Given the description of an element on the screen output the (x, y) to click on. 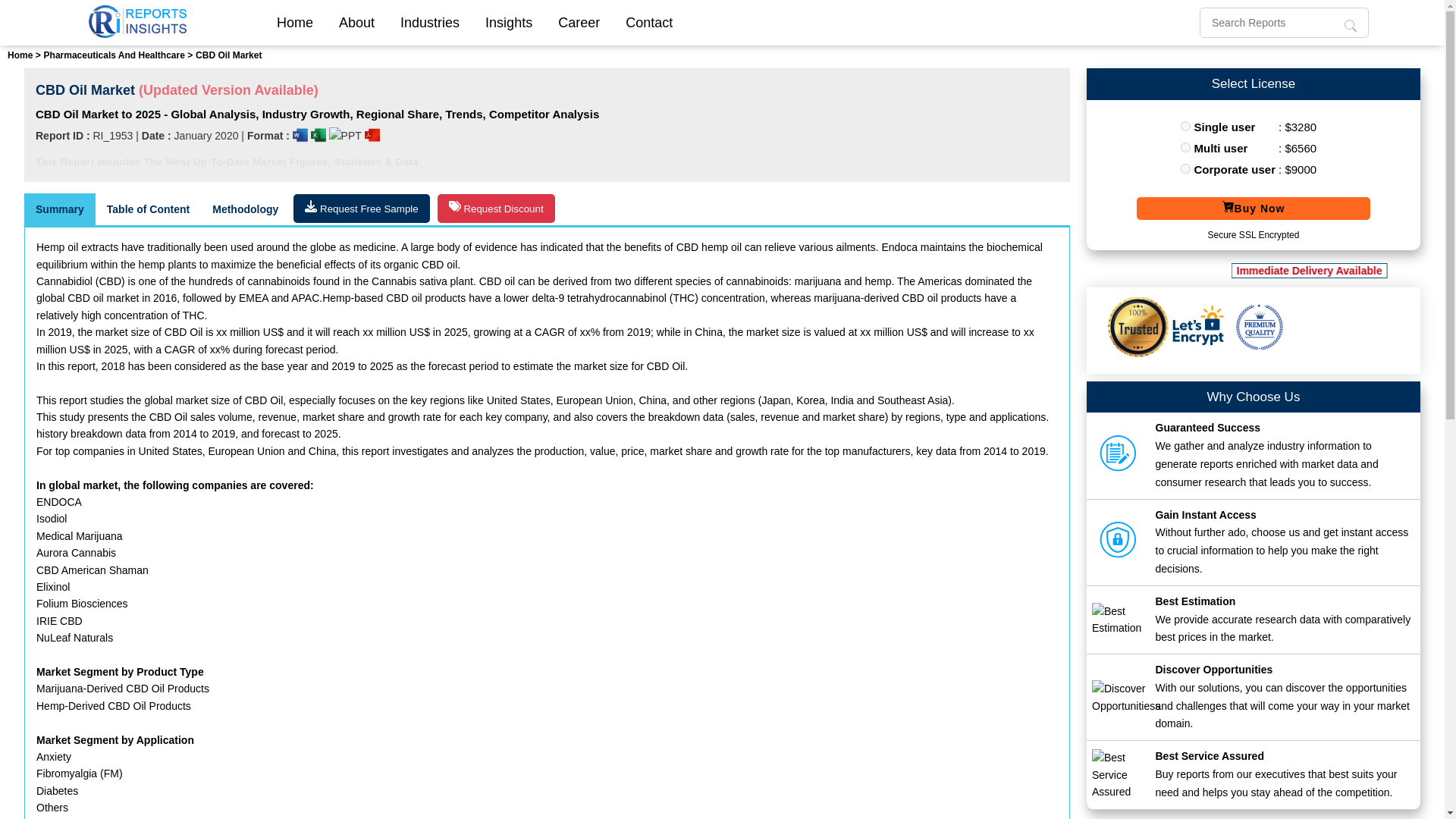
Request Free Sample (361, 208)
Insights (507, 22)
on (1185, 147)
Industries (429, 22)
Request Discount (496, 208)
Home (294, 22)
on (1185, 168)
Request Free Sample (360, 208)
CBD Oil Market (228, 54)
Summary (60, 209)
on (1185, 126)
Methodology (244, 209)
Table of Content (148, 209)
About (356, 22)
Career (578, 22)
